Given the description of an element on the screen output the (x, y) to click on. 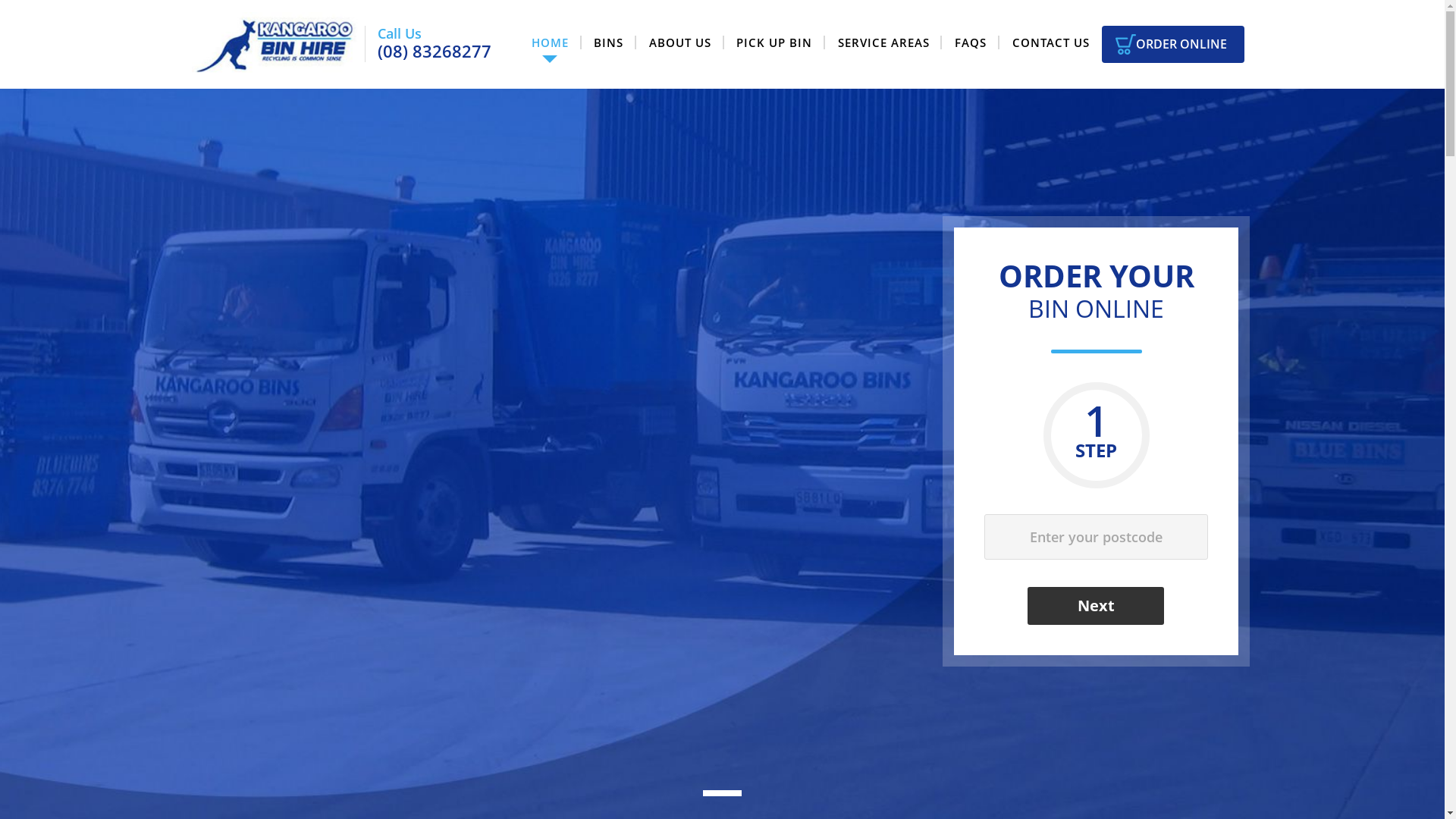
HOME Element type: text (549, 42)
SERVICE AREAS Element type: text (883, 42)
ABOUT US Element type: text (679, 42)
FAQS Element type: text (969, 42)
(08) 83268277 Element type: text (434, 50)
SKIP BINS ADELAIDE | KANGAROO BIN HIRE Element type: text (277, 44)
BINS Element type: text (608, 42)
Skip to content Element type: text (0, 0)
CONTACT US Element type: text (1050, 42)
ORDER ONLINE Element type: text (1172, 44)
PICK UP BIN Element type: text (774, 42)
Next Element type: text (1095, 605)
